Given the description of an element on the screen output the (x, y) to click on. 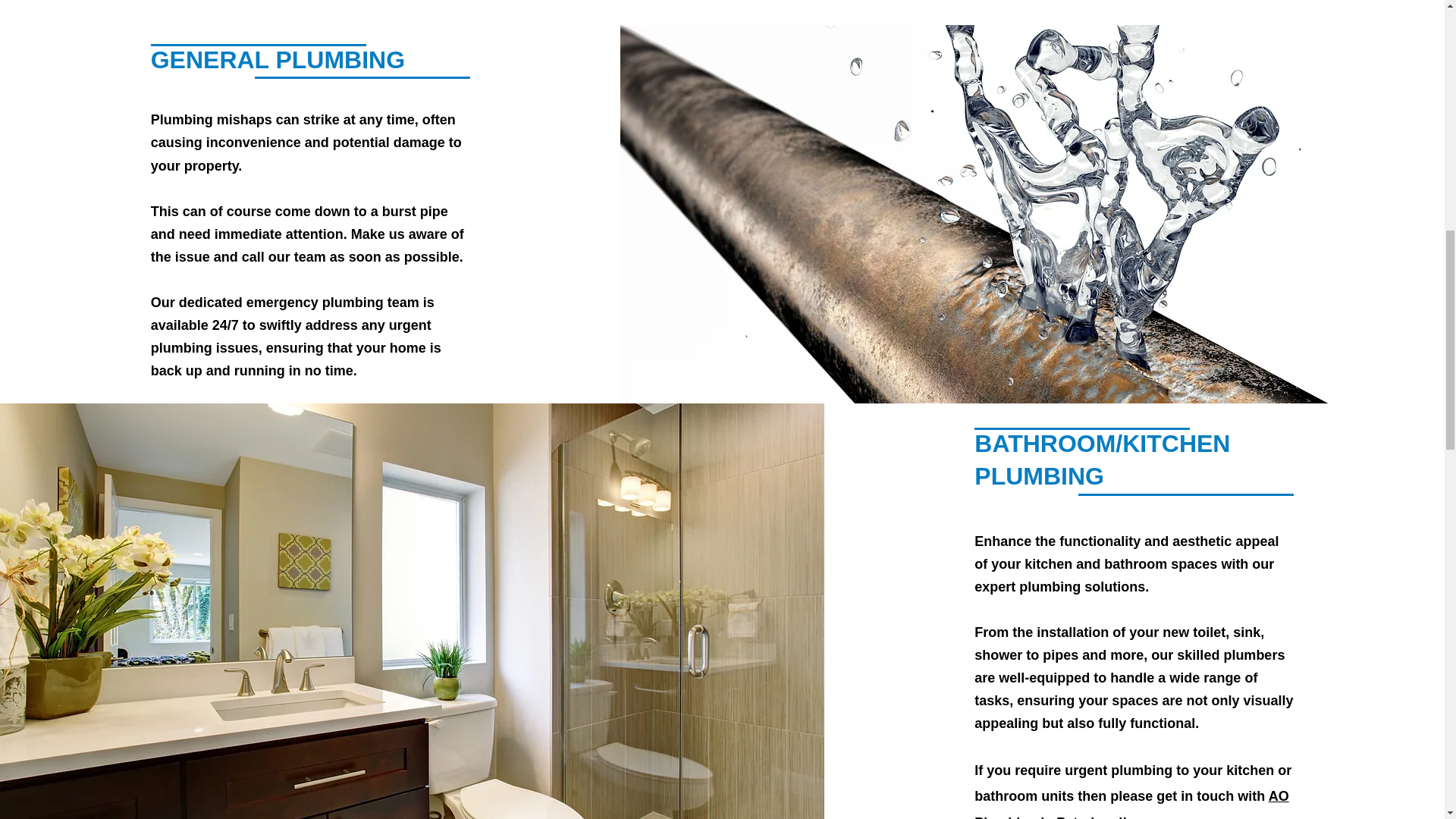
AO Plumbing (1131, 803)
